Given the description of an element on the screen output the (x, y) to click on. 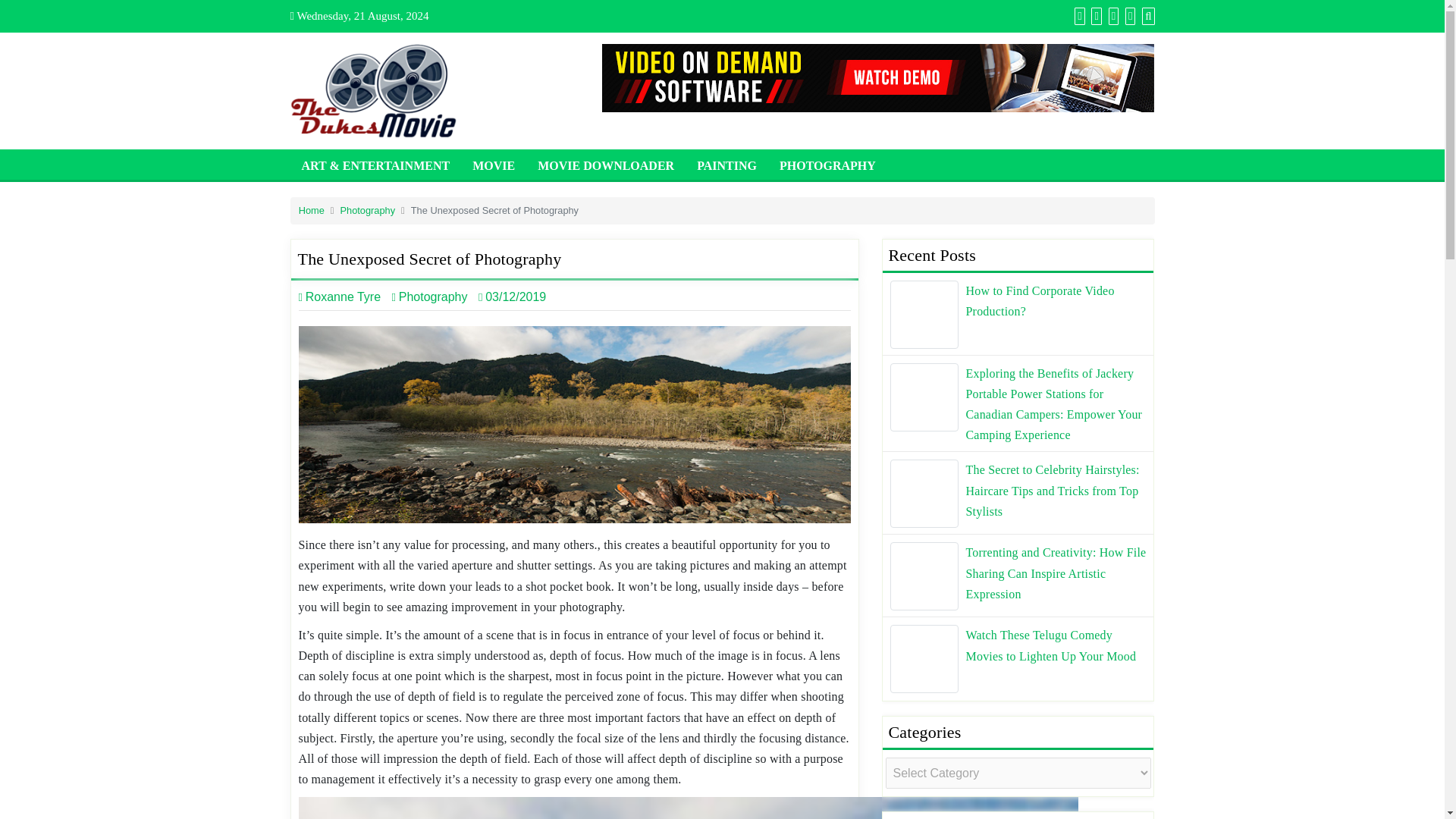
Twitter (1093, 15)
PHOTOGRAPHY (827, 164)
MOVIE (493, 164)
PAINTING (726, 164)
The Unexposed Secret of Photography (688, 807)
Pinterest (1111, 15)
How to Find Corporate Video Production? (923, 314)
